Given the description of an element on the screen output the (x, y) to click on. 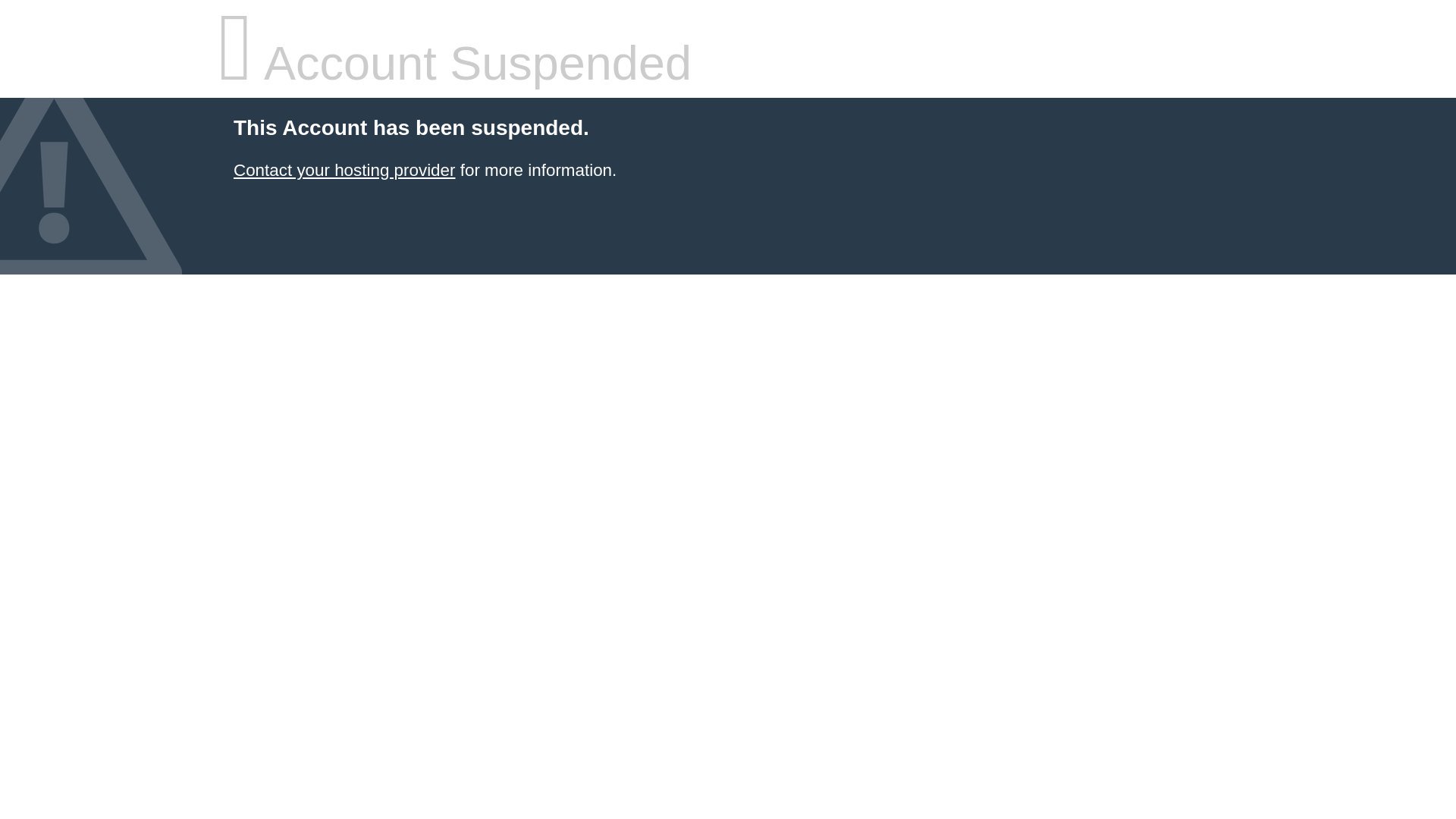
Contact your hosting provider (343, 169)
